Given the description of an element on the screen output the (x, y) to click on. 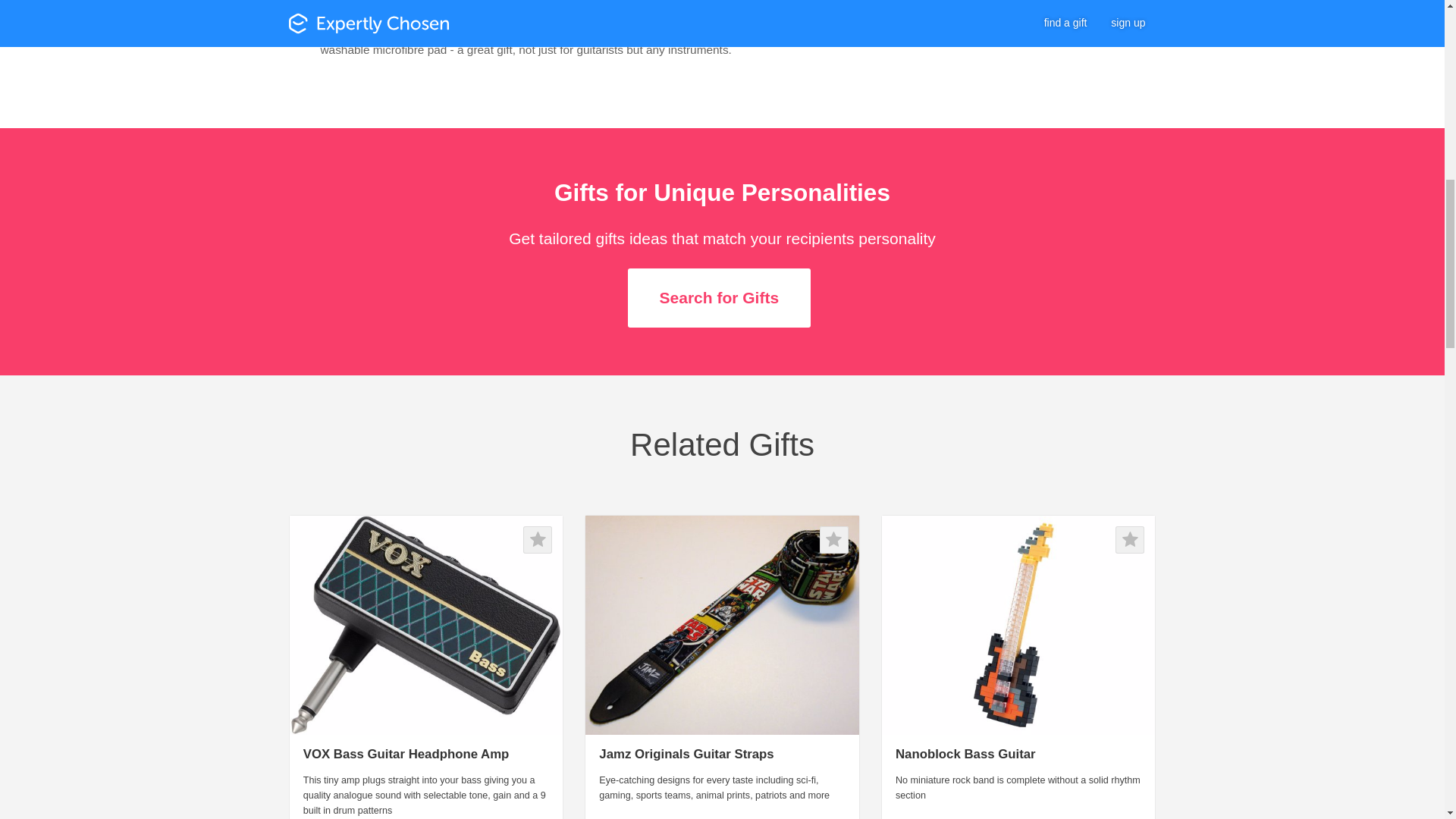
Nanoblock Bass Guitar (965, 753)
Add to my favorites (536, 539)
VOX Bass Guitar Headphone Amp (405, 753)
Add to my favorites (833, 539)
Jamz Originals Guitar Straps (685, 753)
Add to my favorites (1129, 539)
Search for Gifts (718, 297)
